Given the description of an element on the screen output the (x, y) to click on. 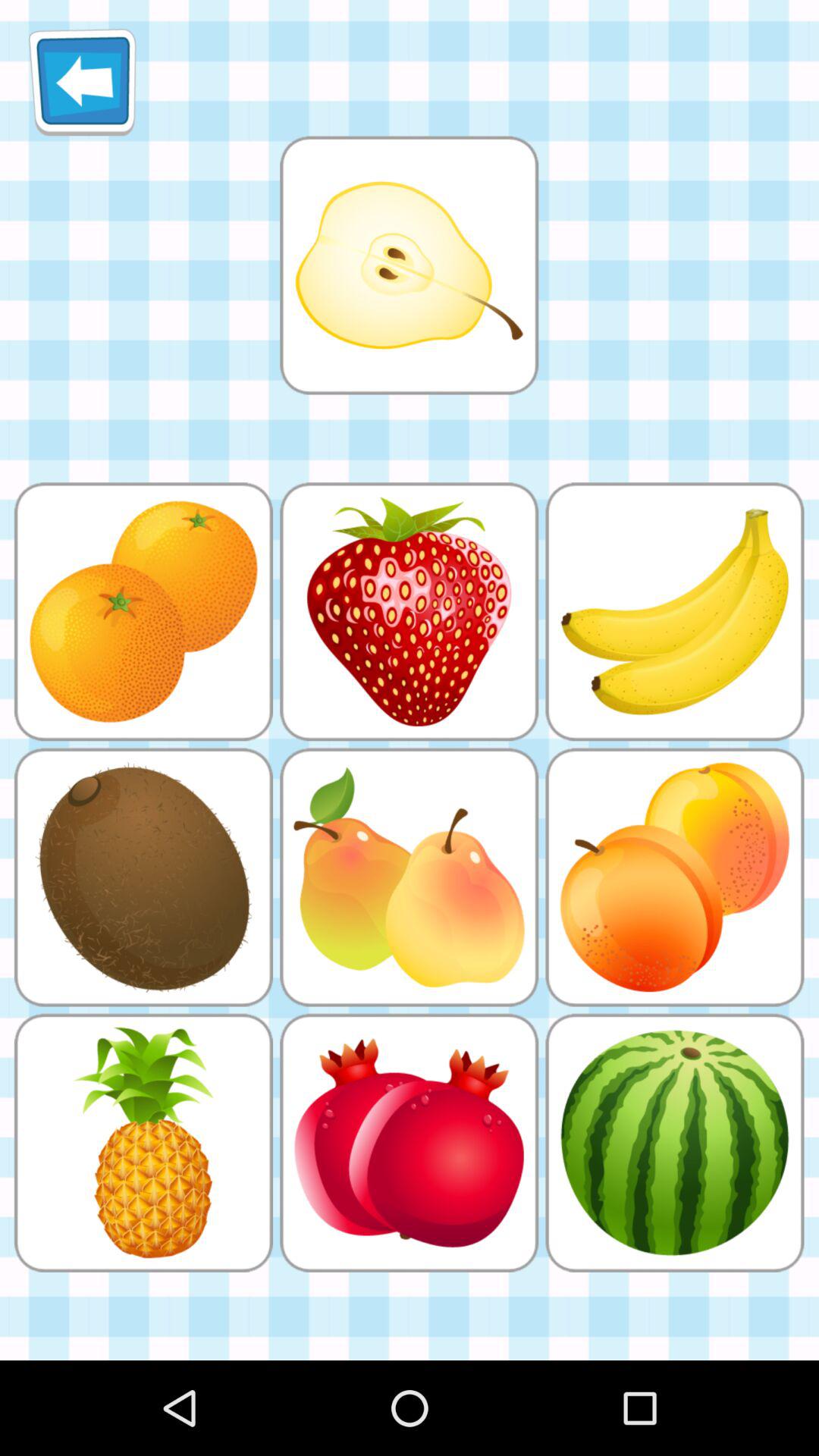
select item (409, 265)
